Given the description of an element on the screen output the (x, y) to click on. 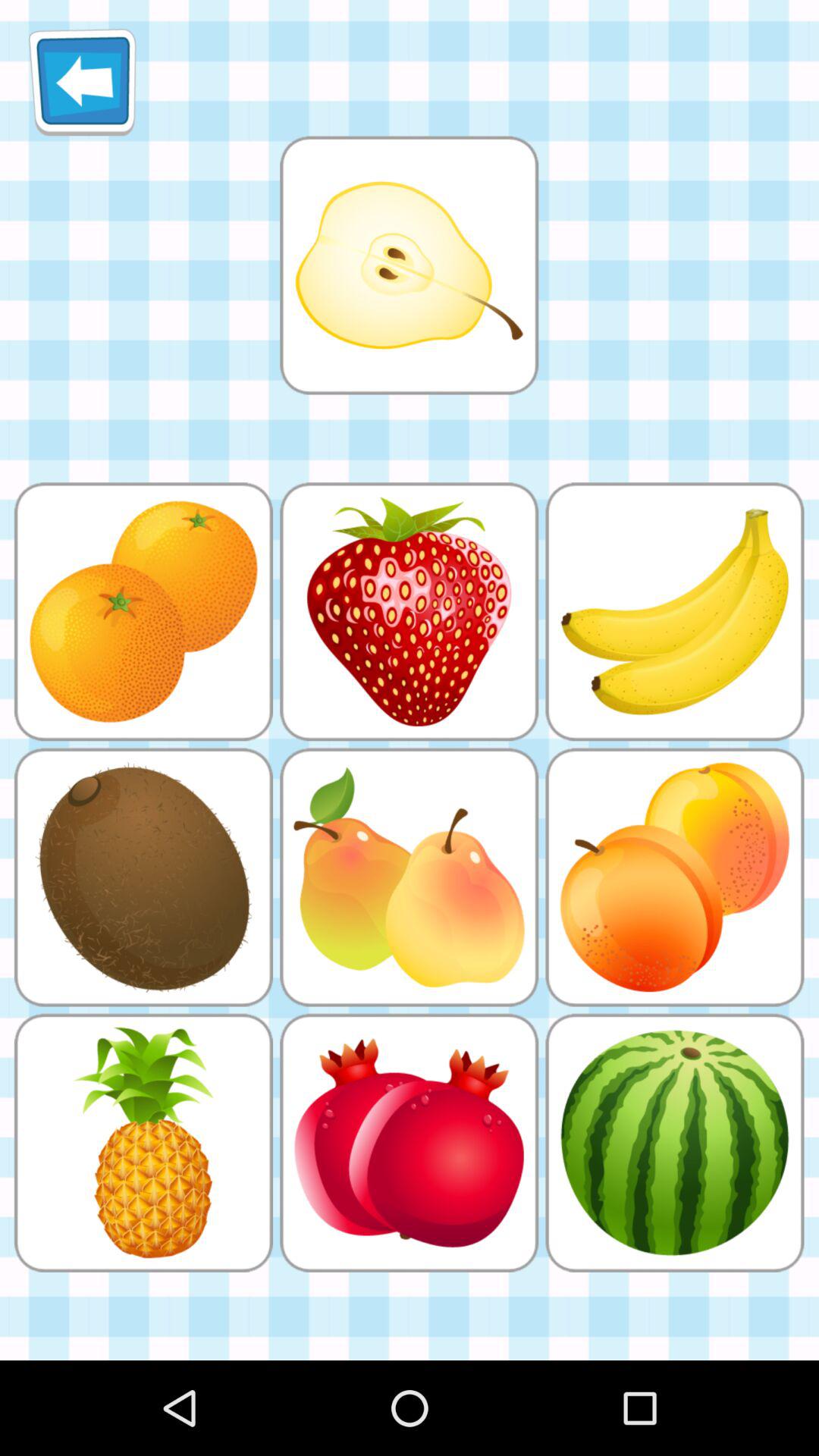
select item (409, 265)
